Given the description of an element on the screen output the (x, y) to click on. 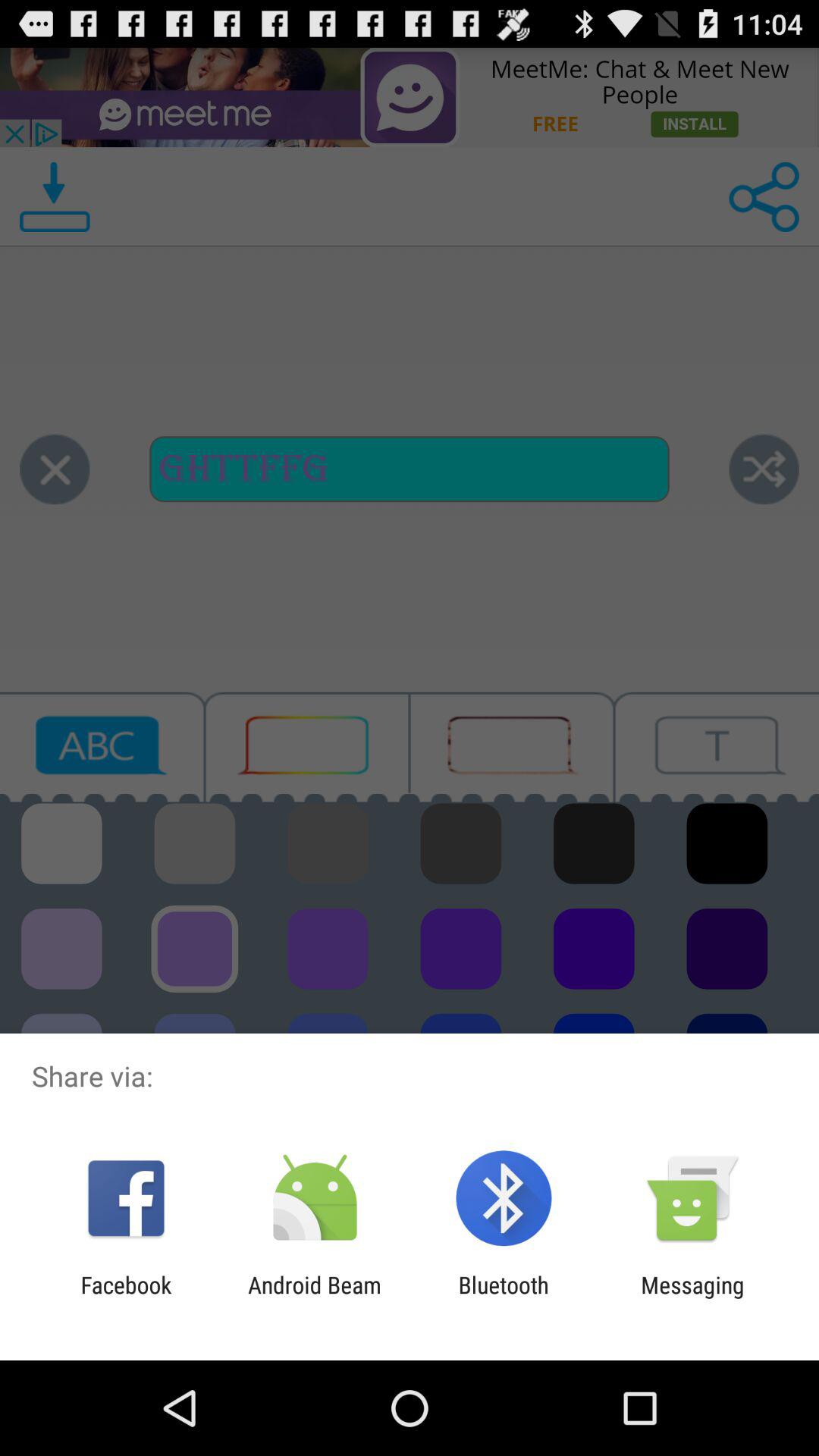
tap item to the right of facebook item (314, 1298)
